Given the description of an element on the screen output the (x, y) to click on. 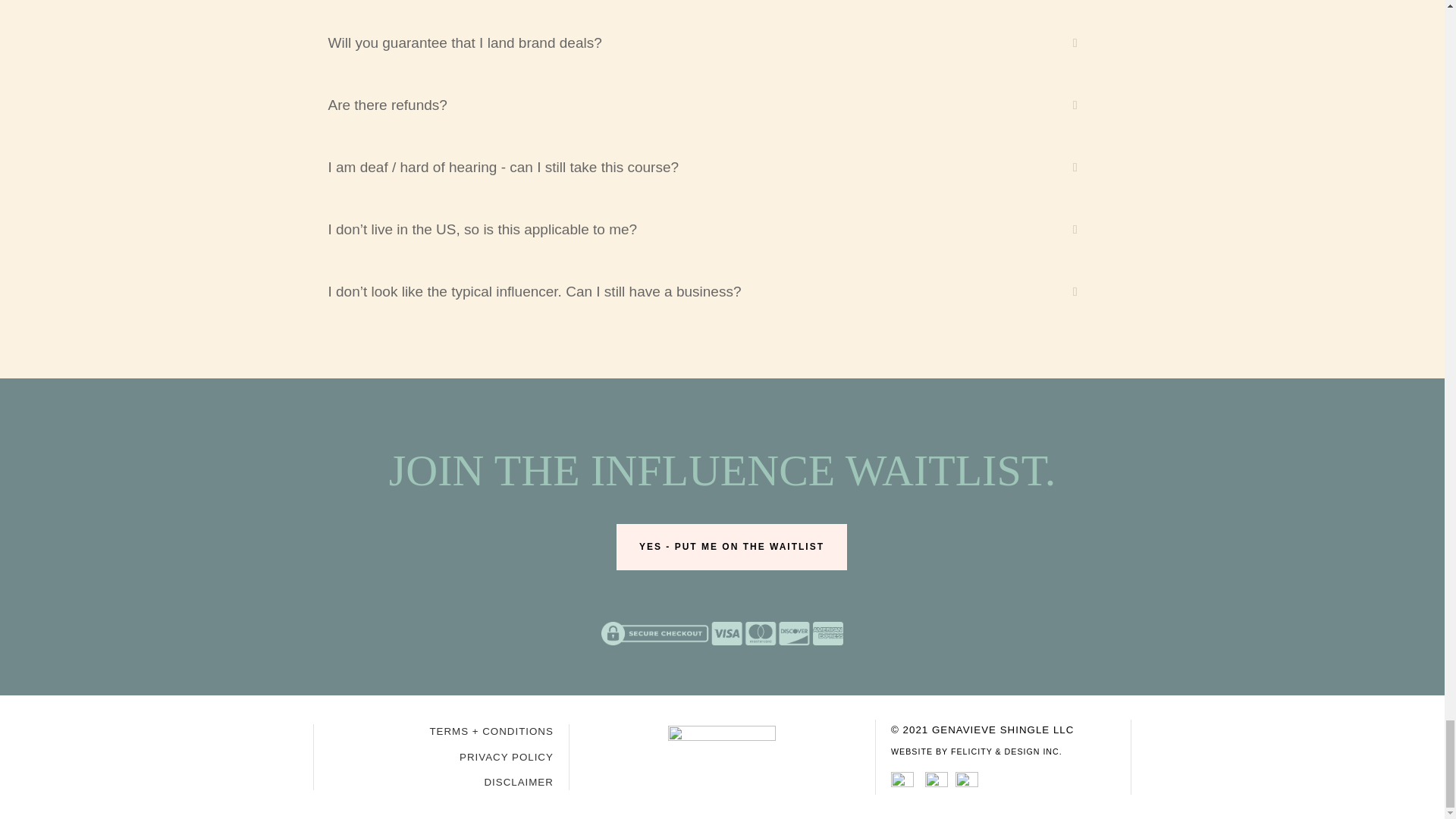
PRIVACY POLICY (506, 756)
DISCLAIMER (518, 781)
YES - PUT ME ON THE WAITLIST (731, 546)
sts-payment-buttons (722, 633)
